Given the description of an element on the screen output the (x, y) to click on. 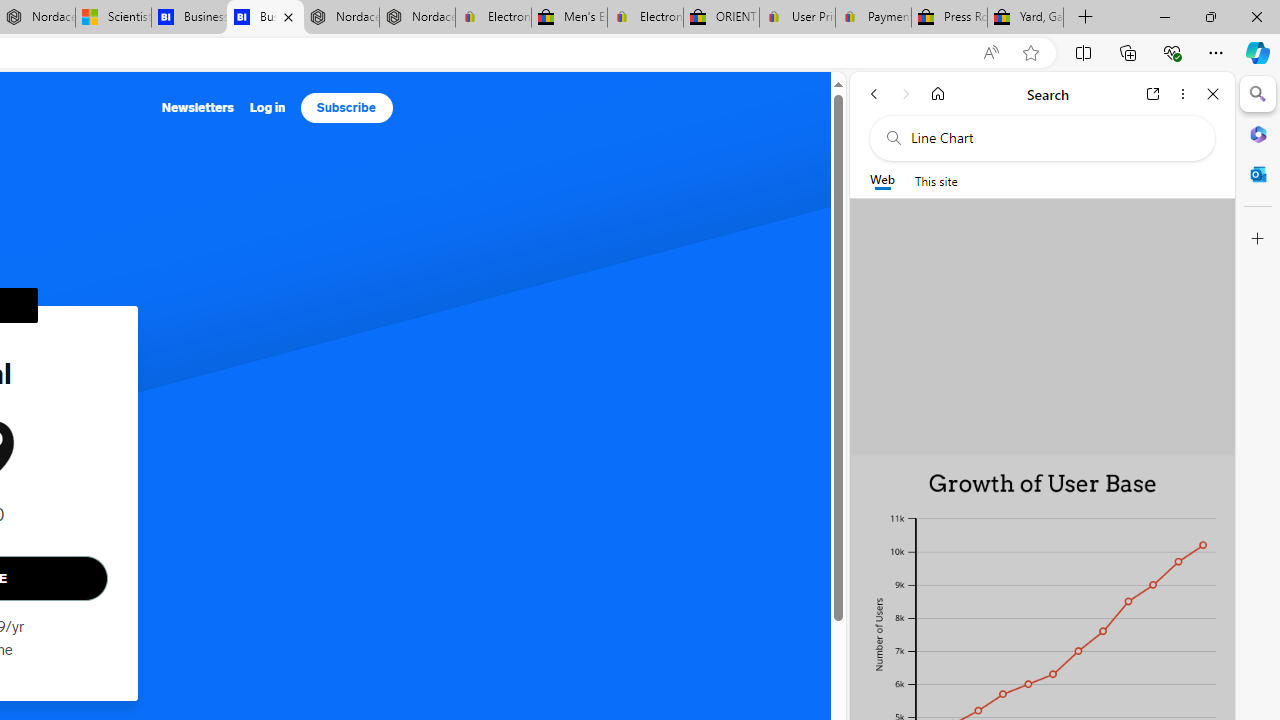
Minimize Search pane (1258, 94)
Subscribe (345, 107)
